Given the description of an element on the screen output the (x, y) to click on. 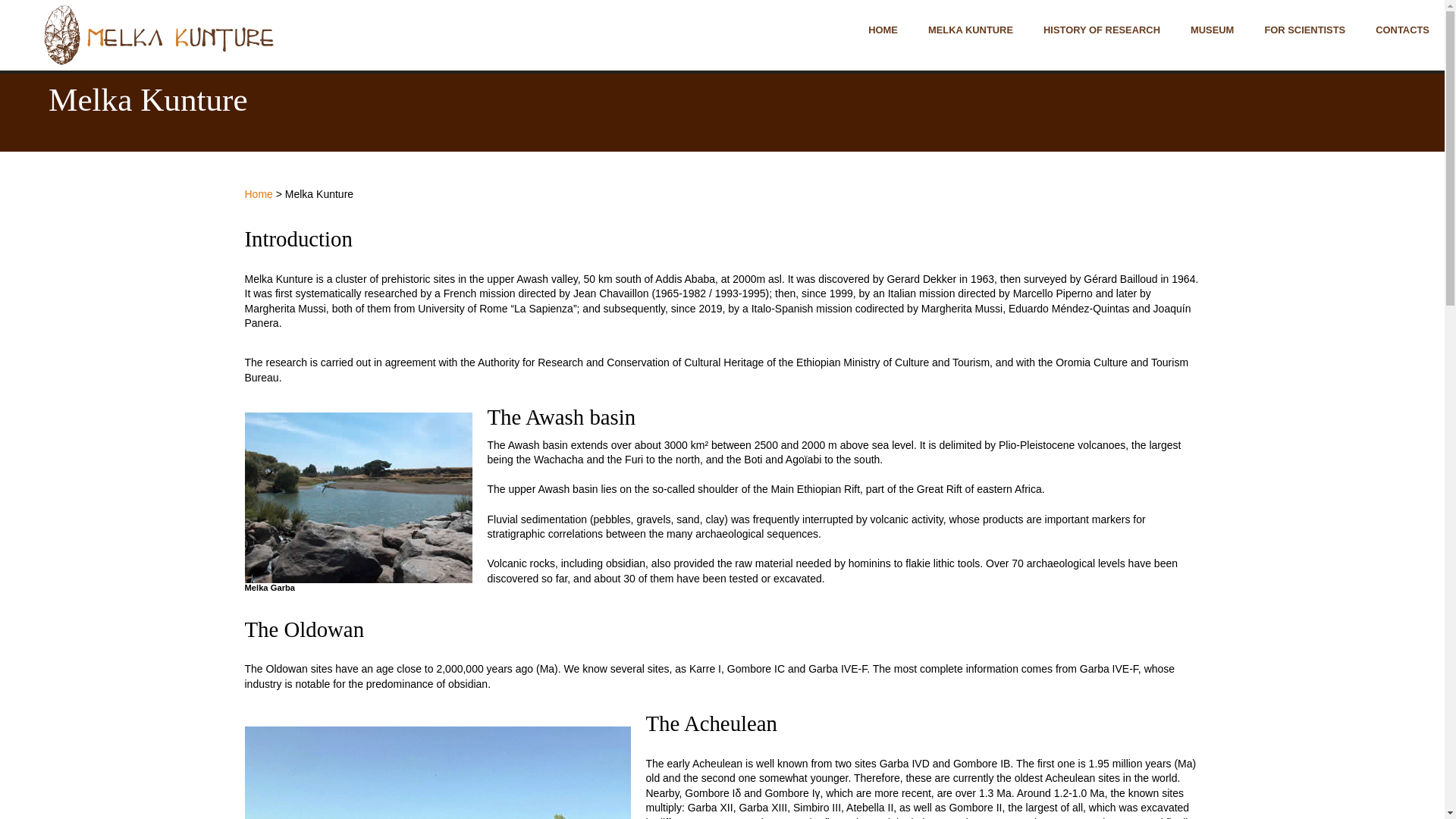
MUSEUM (1211, 27)
FOR SCIENTISTS (1304, 27)
Home (258, 193)
MELKA KUNTURE (969, 27)
HOME (882, 27)
HISTORY OF RESEARCH (1100, 27)
